Given the description of an element on the screen output the (x, y) to click on. 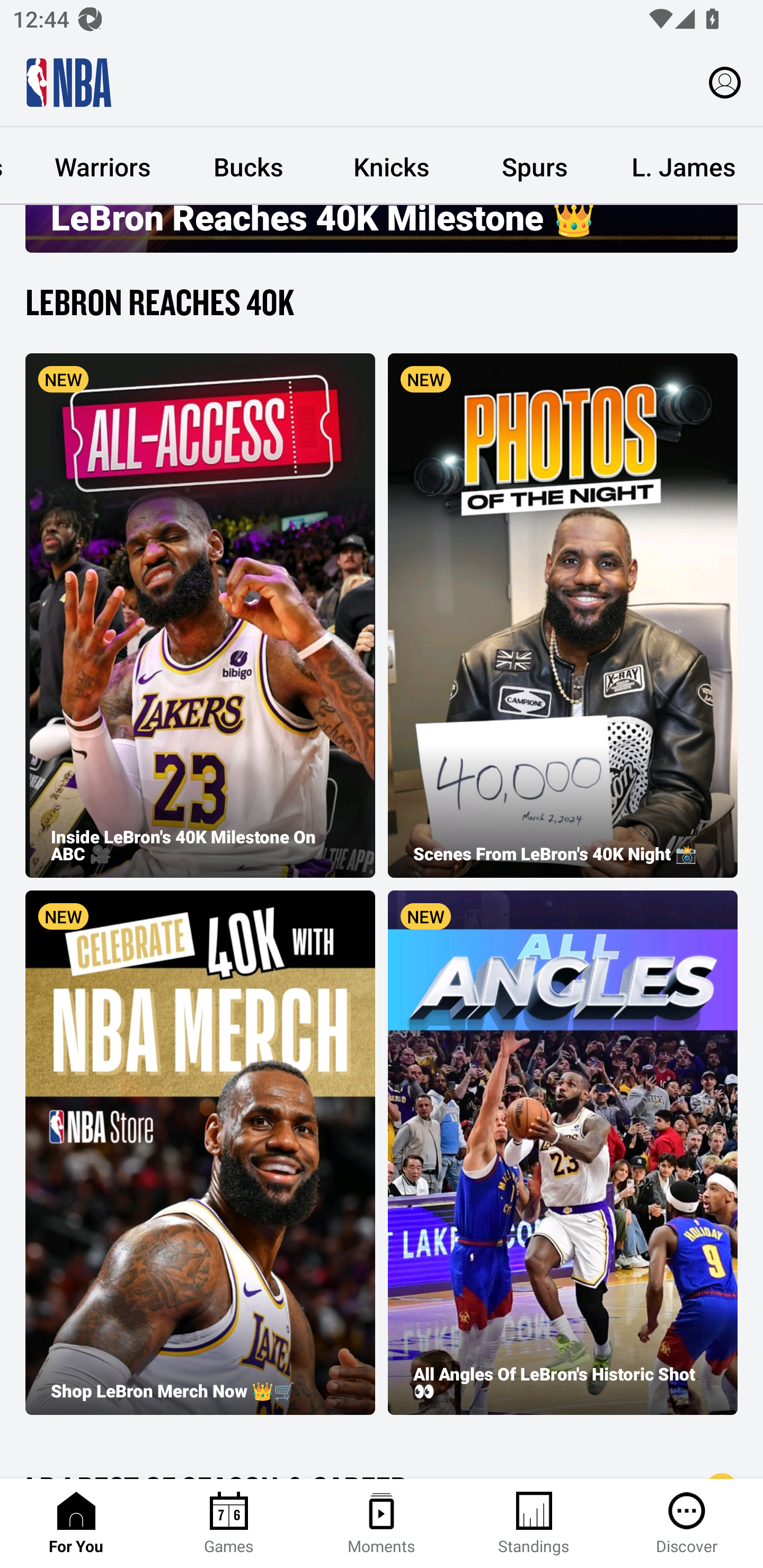
Profile (724, 81)
Warriors (102, 166)
Bucks (248, 166)
Knicks (391, 166)
Spurs (534, 166)
L. James (683, 166)
LeBron Reaches 40K Milestone 👑 (381, 228)
NEW Inside LeBron's 40K Milestone On ABC 🎥 (200, 615)
NEW Scenes From LeBron's 40K Night 📸 (562, 615)
NEW Shop LeBron Merch Now 👑🛒 (200, 1152)
NEW All Angles Of LeBron's Historic Shot 👀 (562, 1152)
Games (228, 1523)
Moments (381, 1523)
Standings (533, 1523)
Discover (686, 1523)
